Given the description of an element on the screen output the (x, y) to click on. 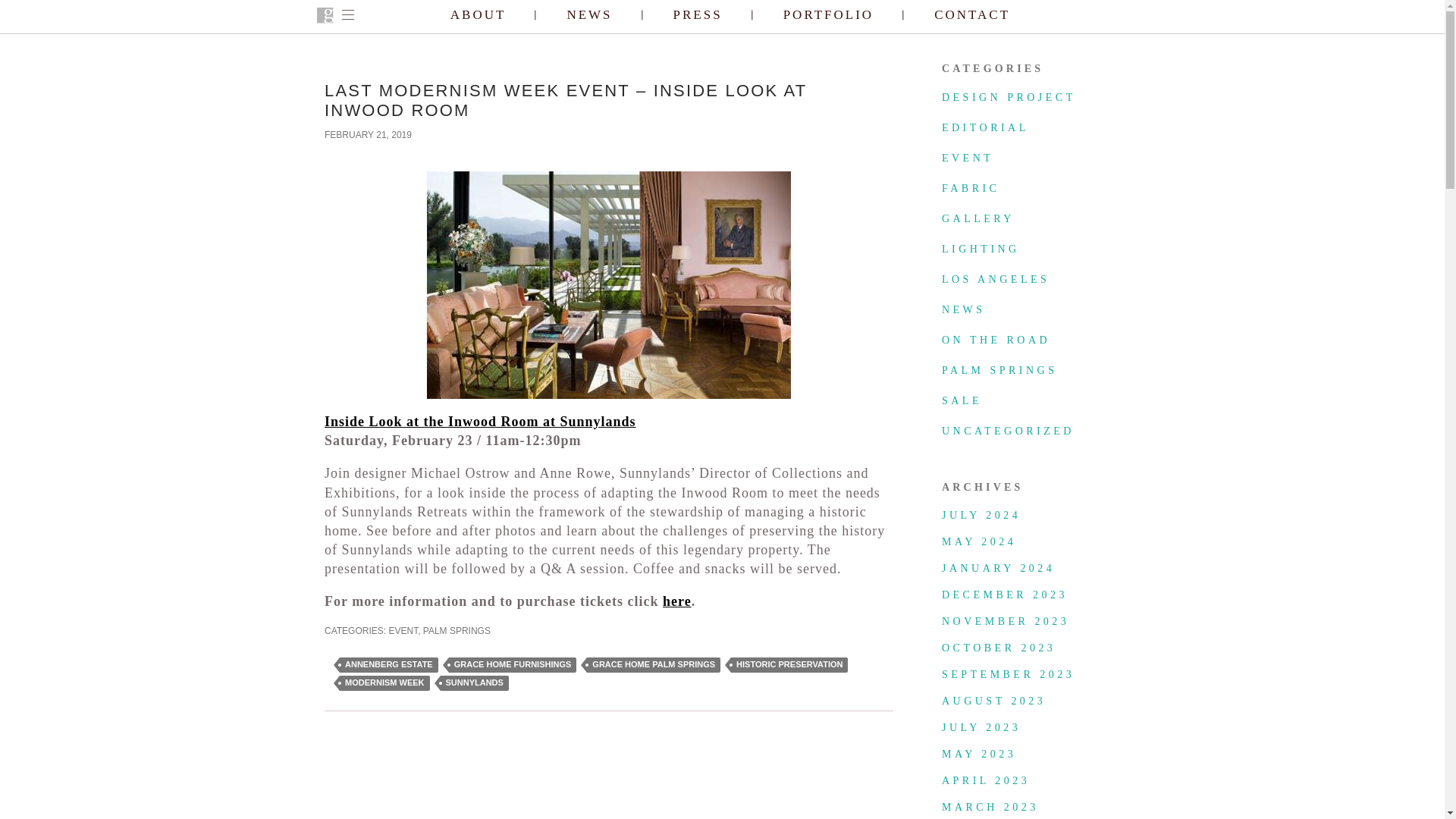
LOS ANGELES (995, 279)
PRESS (697, 14)
MODERNISM WEEK (384, 683)
Return Home (325, 16)
NEWS (588, 14)
NEWS (963, 309)
NOVEMBER 2023 (1005, 621)
CONTACT (972, 14)
Inside Look at the Inwood Room at Sunnylands (480, 421)
ANNENBERG ESTATE (388, 664)
